Given the description of an element on the screen output the (x, y) to click on. 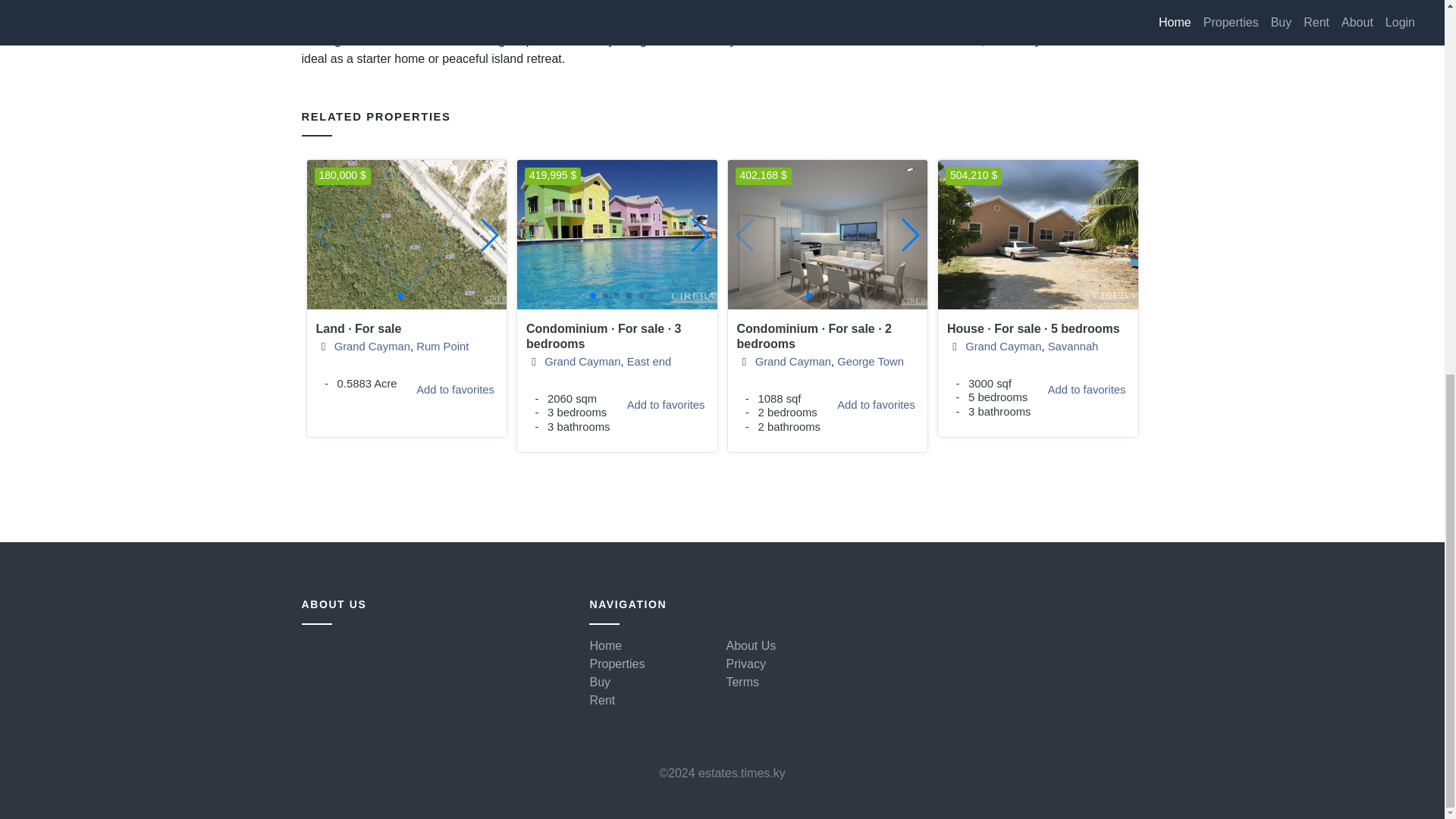
Grand Cayman (407, 397)
Add to favorites (372, 346)
Rum Point (455, 389)
